Given the description of an element on the screen output the (x, y) to click on. 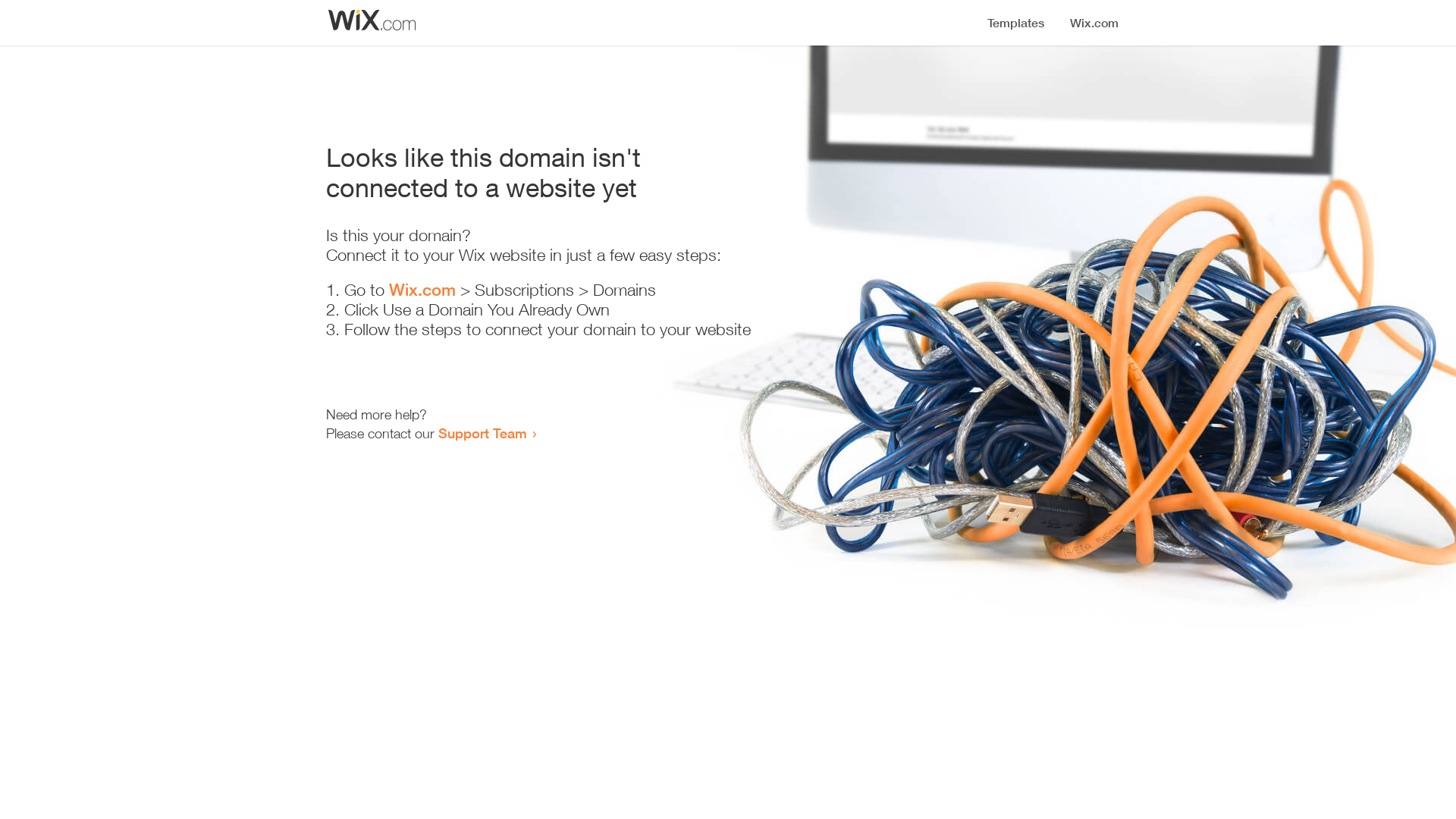
Support Team Element type: text (482, 432)
Wix.com Element type: text (422, 289)
